Given the description of an element on the screen output the (x, y) to click on. 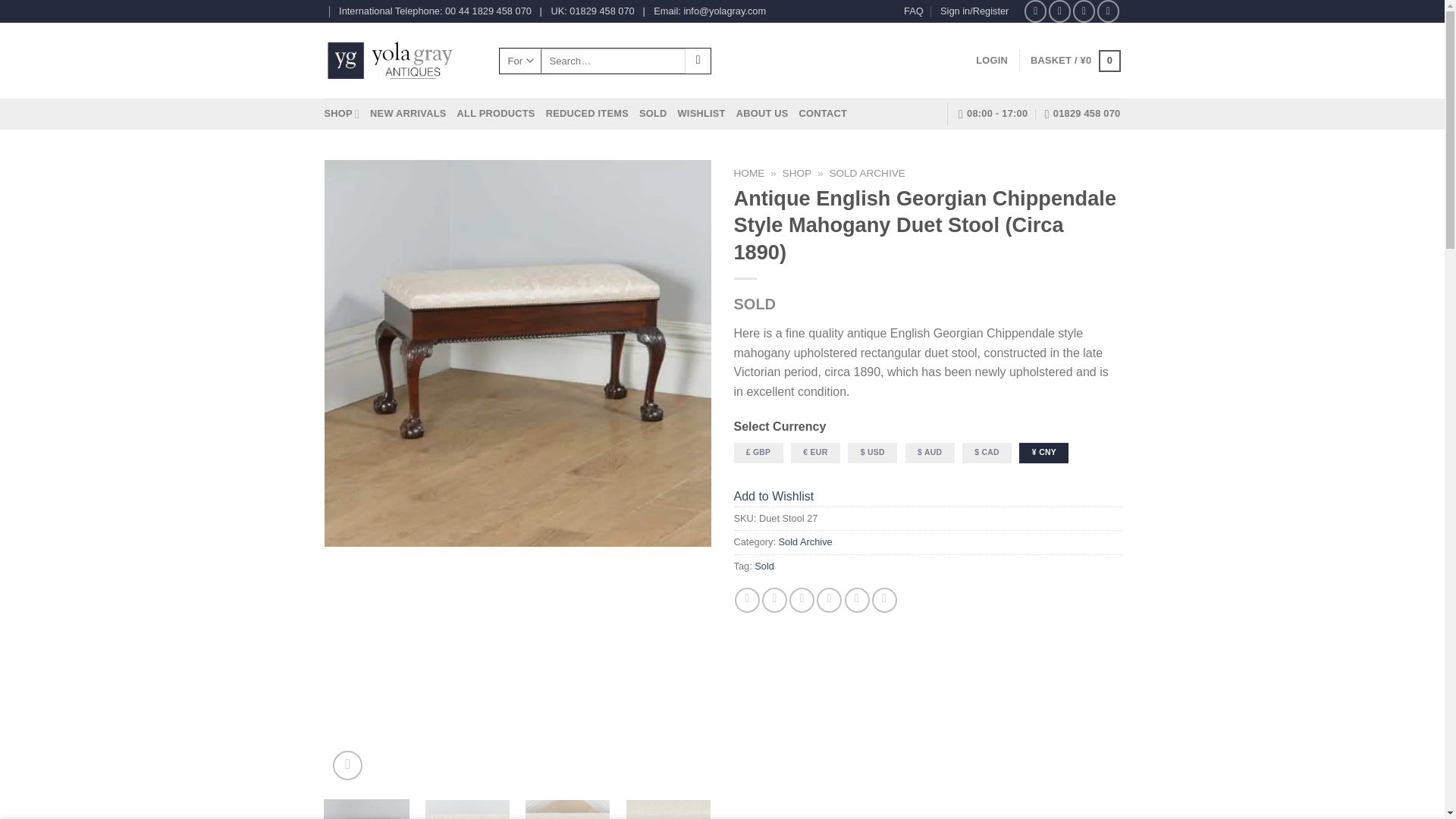
Follow on Twitter (1083, 11)
Follow on Facebook (1035, 11)
SHOP (341, 113)
View All Our Items For Sale In One Place (496, 113)
Follow on Instagram (1059, 11)
Search (697, 60)
LOGIN (991, 60)
Login (991, 60)
View Our New Stock In One Place (407, 113)
Basket (1075, 61)
